Given the description of an element on the screen output the (x, y) to click on. 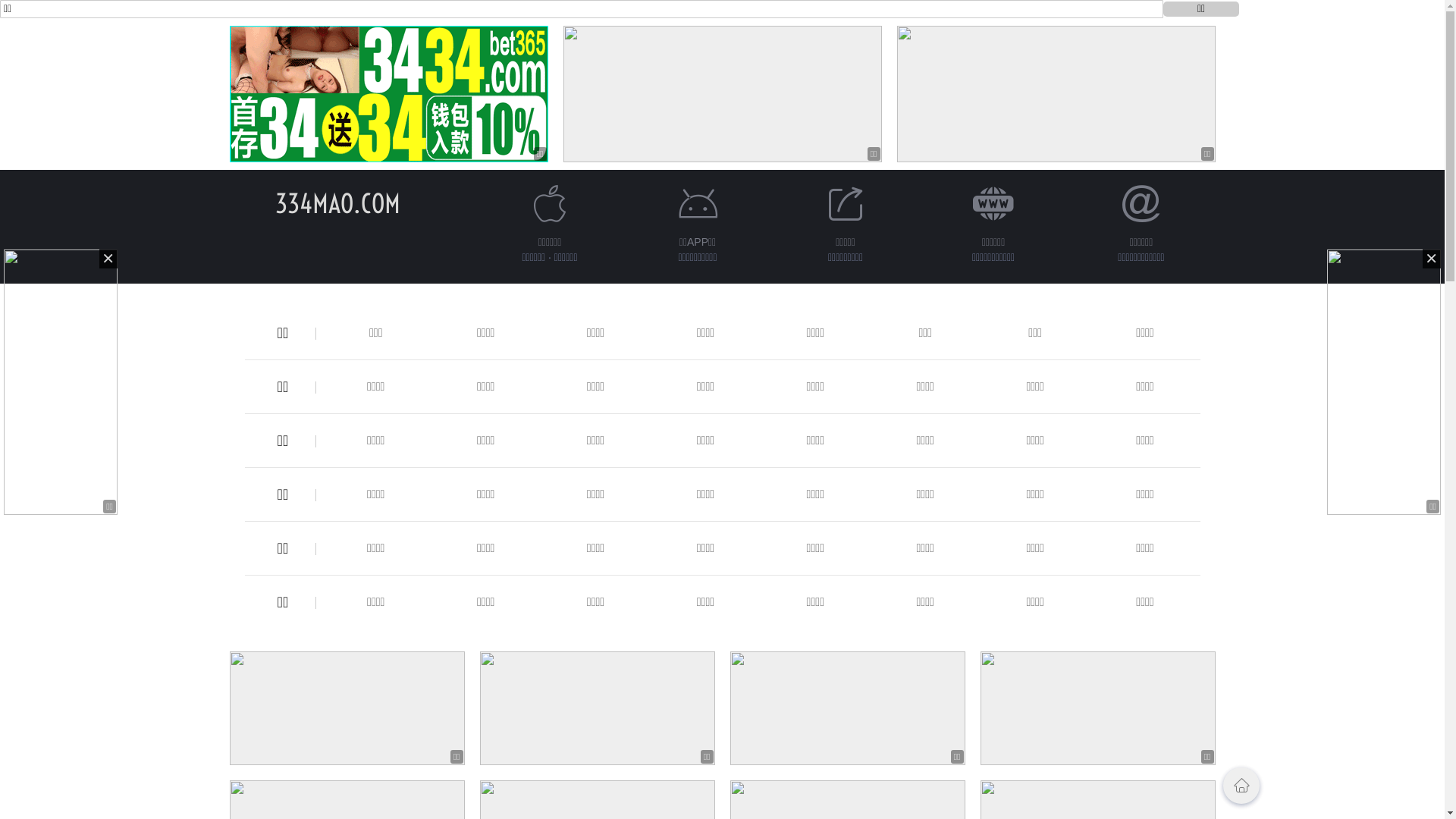
334MAO.COM Element type: text (337, 203)
